Given the description of an element on the screen output the (x, y) to click on. 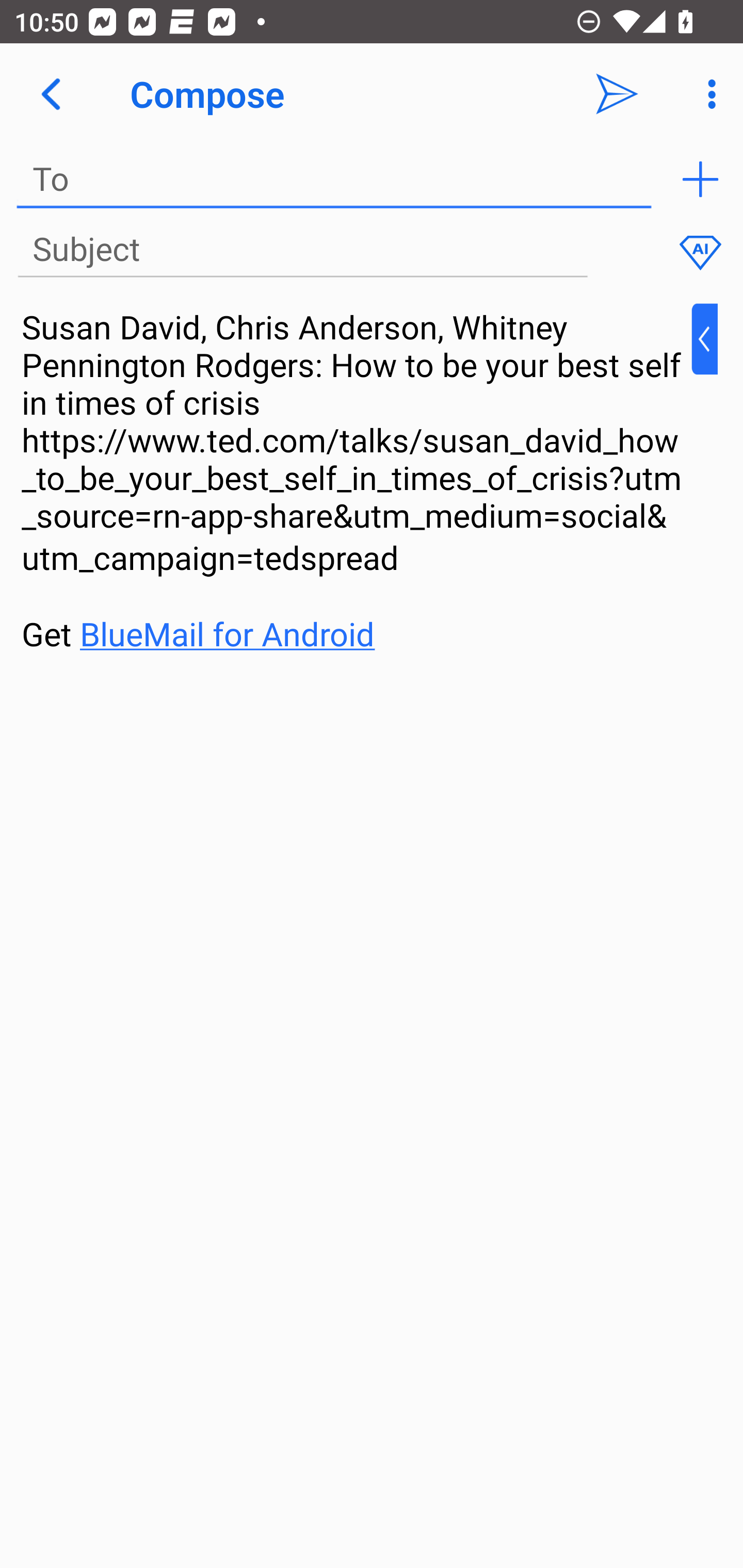
Navigate up (50, 93)
Send (616, 93)
More Options (706, 93)
To (334, 179)
Add recipient (To) (699, 179)
Subject (302, 249)
